Given the description of an element on the screen output the (x, y) to click on. 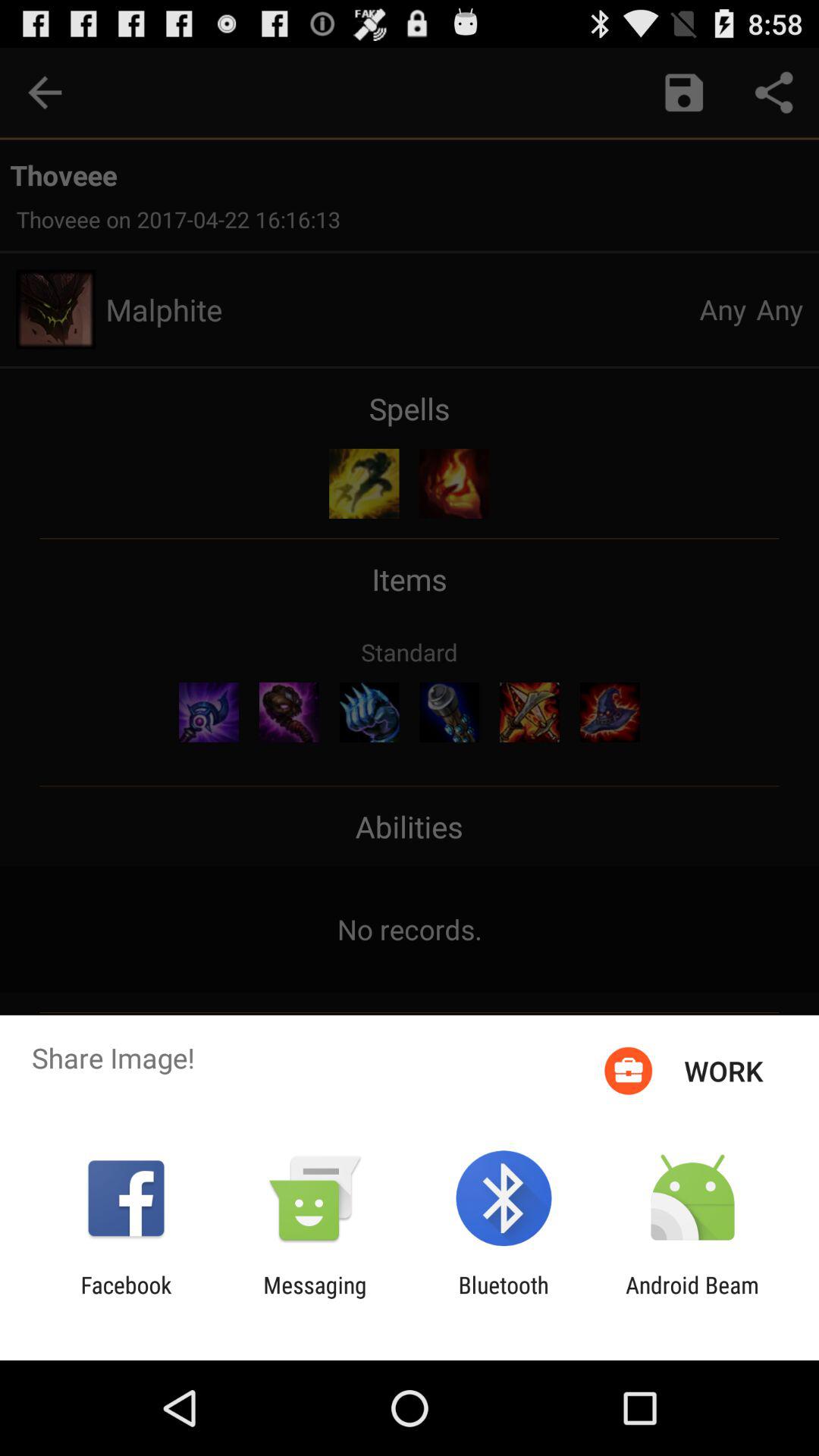
turn off facebook app (125, 1298)
